Given the description of an element on the screen output the (x, y) to click on. 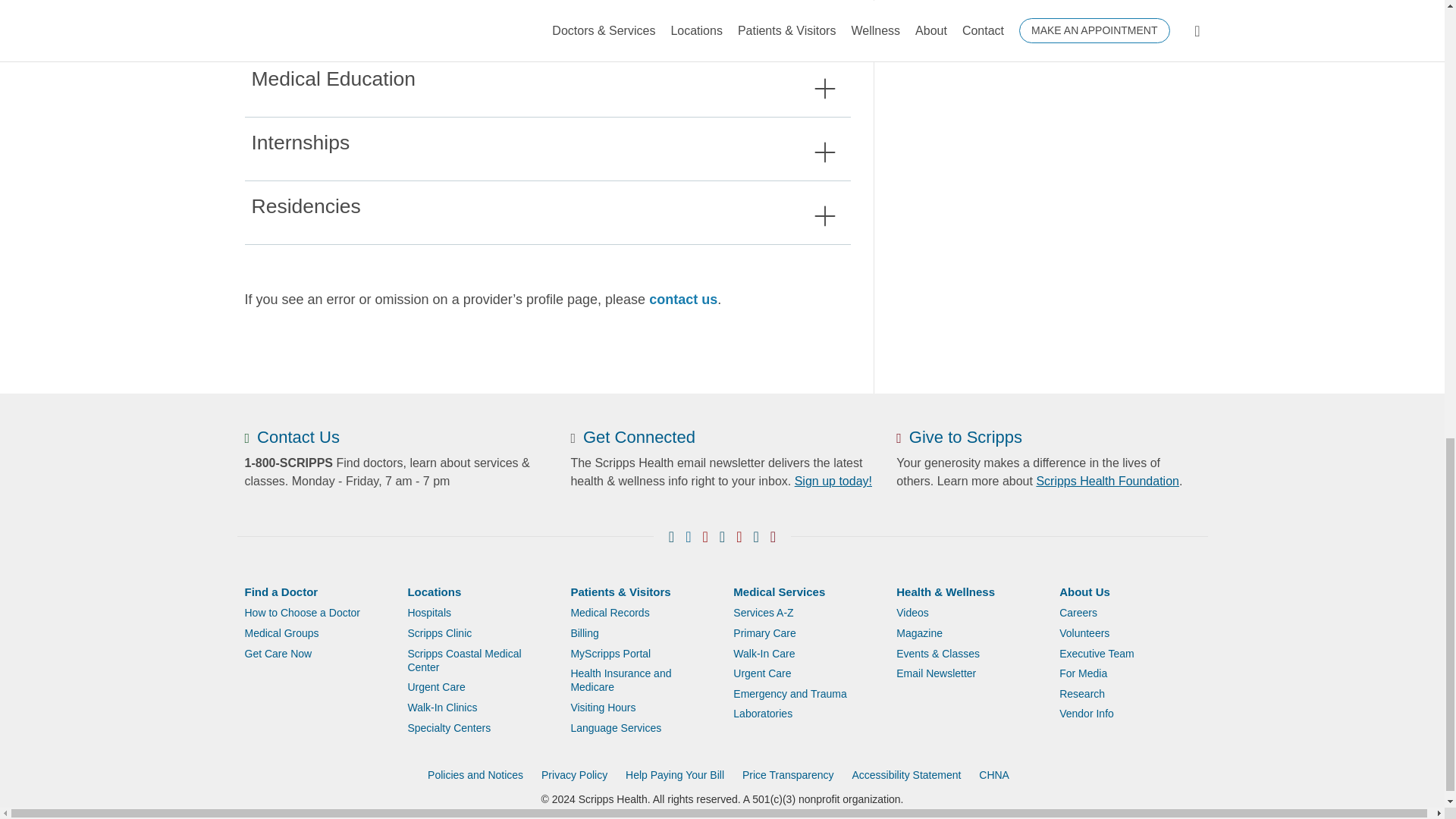
1-800-SCRIPPS (288, 462)
